Given the description of an element on the screen output the (x, y) to click on. 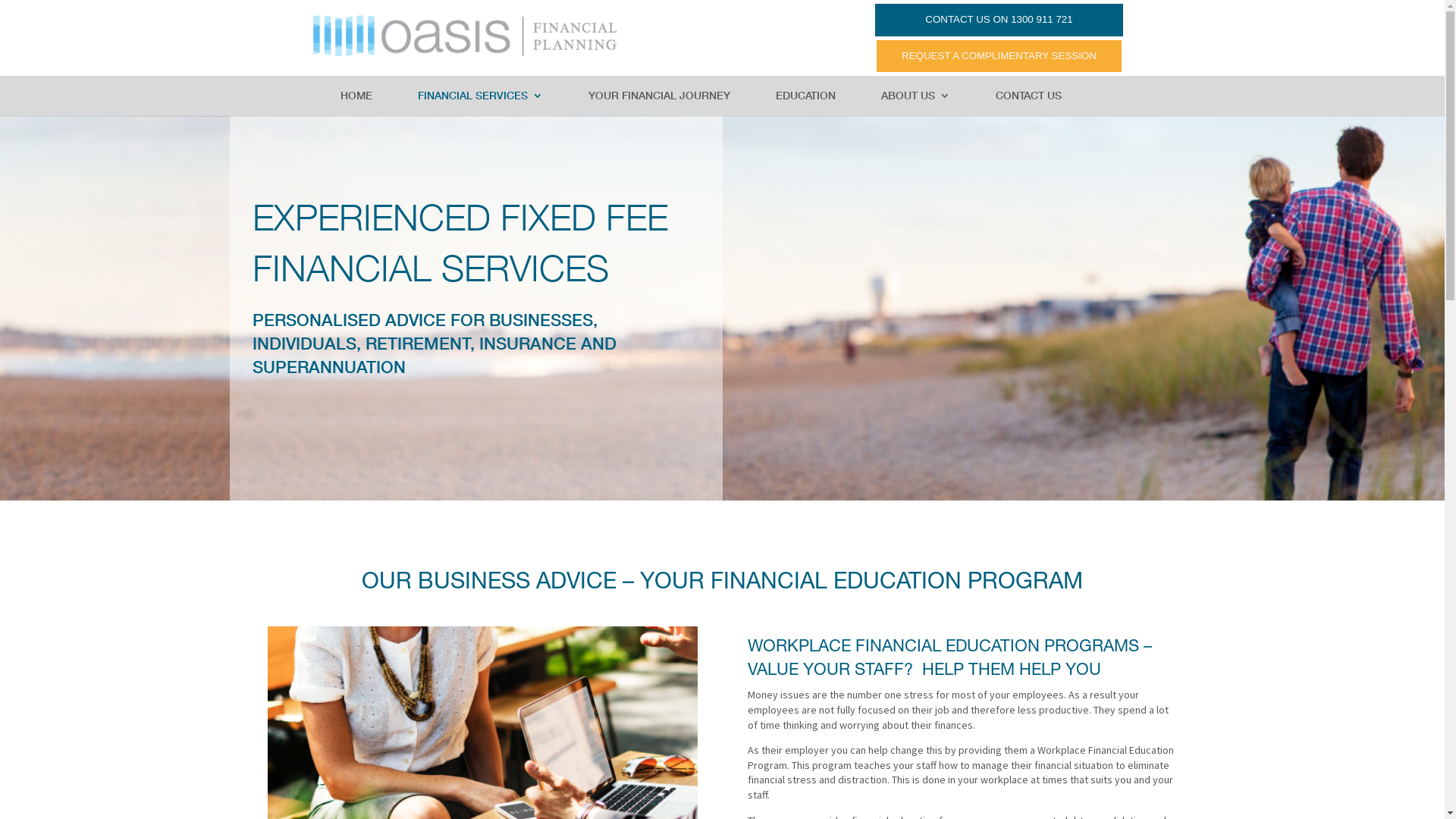
EDUCATION Element type: text (805, 103)
REQUEST A COMPLIMENTARY SESSION Element type: text (998, 56)
CONTACT US ON 1300 911 721 Element type: text (998, 19)
ABOUT US Element type: text (915, 103)
FINANCIAL SERVICES Element type: text (479, 103)
HOME Element type: text (356, 103)
CONTACT US Element type: text (1028, 103)
YOUR FINANCIAL JOURNEY Element type: text (659, 103)
